Given the description of an element on the screen output the (x, y) to click on. 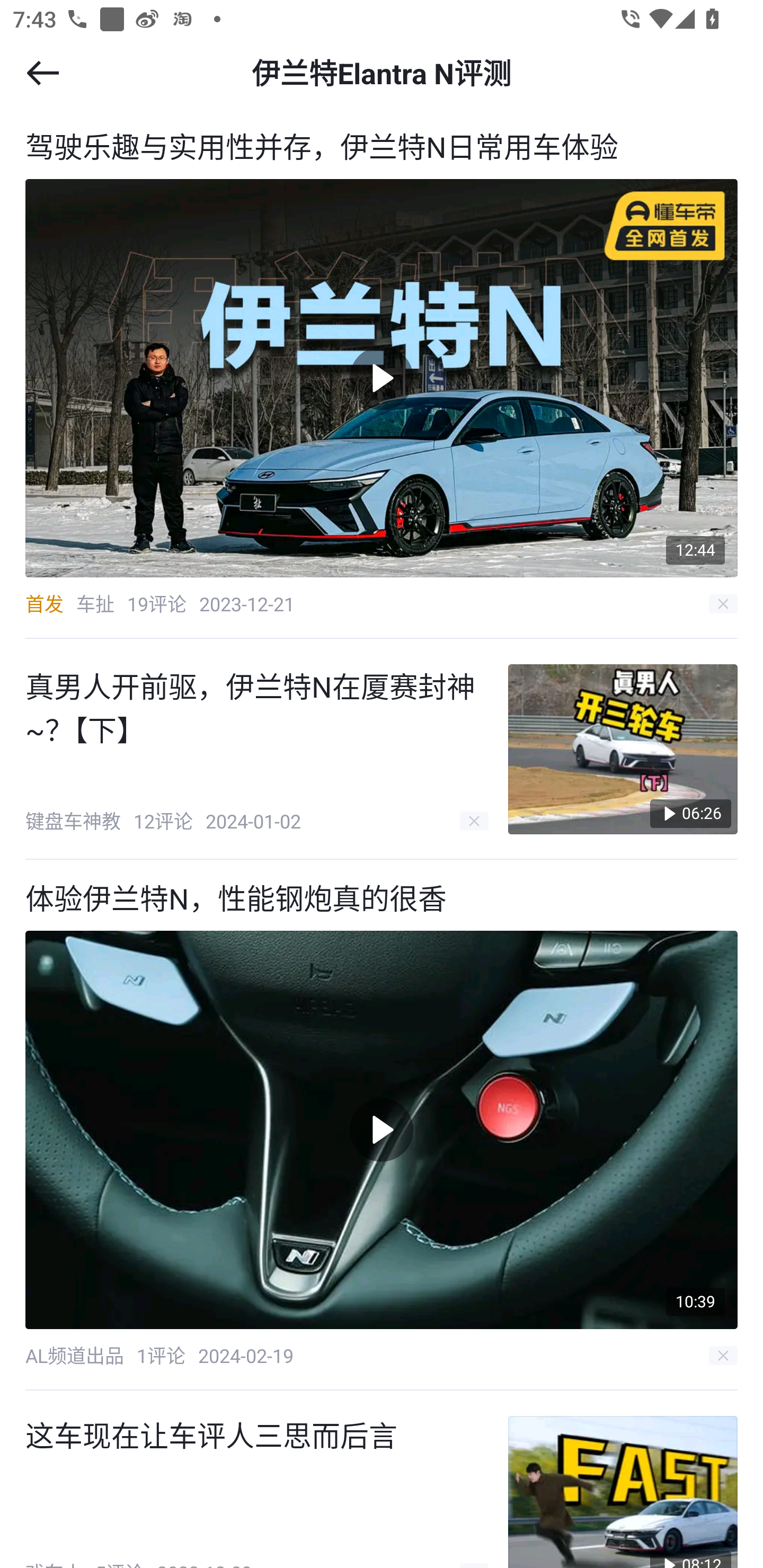
 (42, 72)
首发 (44, 603)
体验伊兰特N，性能钢炮真的很香  10:39 AL频道出品 1评论 2024-02-19 (381, 1124)
这车现在让车评人三思而后言 戏车人 5评论 2023-12-09  08:12 (381, 1479)
